Given the description of an element on the screen output the (x, y) to click on. 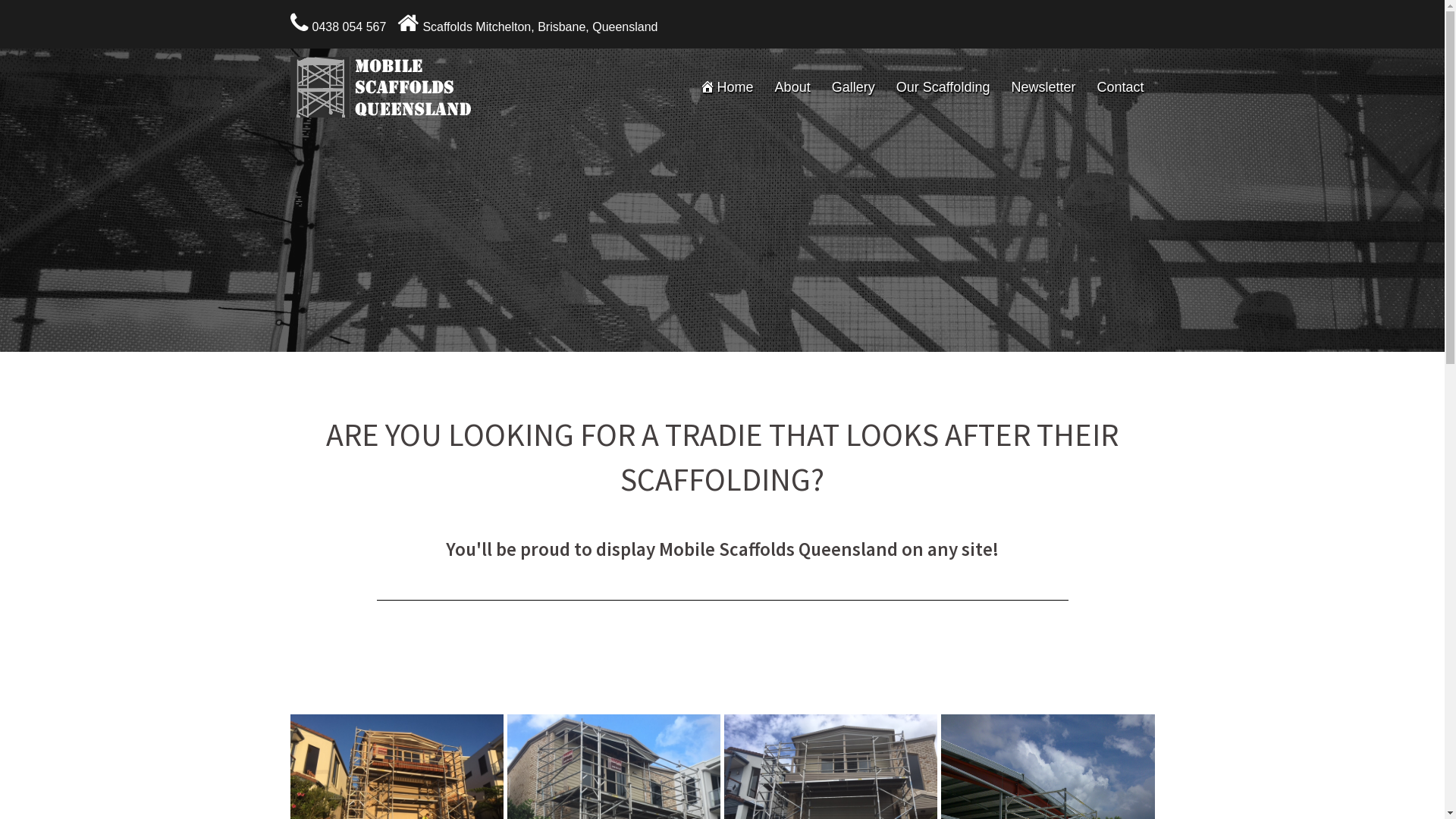
Newsletter Element type: text (1042, 87)
Skip to content Element type: text (0, 0)
About Element type: text (792, 87)
Mobile Scaffolds Element type: hover (384, 85)
Our Scaffolding Element type: text (943, 87)
Gallery Element type: text (853, 87)
Contact Element type: text (1119, 87)
Home Element type: text (726, 87)
